Given the description of an element on the screen output the (x, y) to click on. 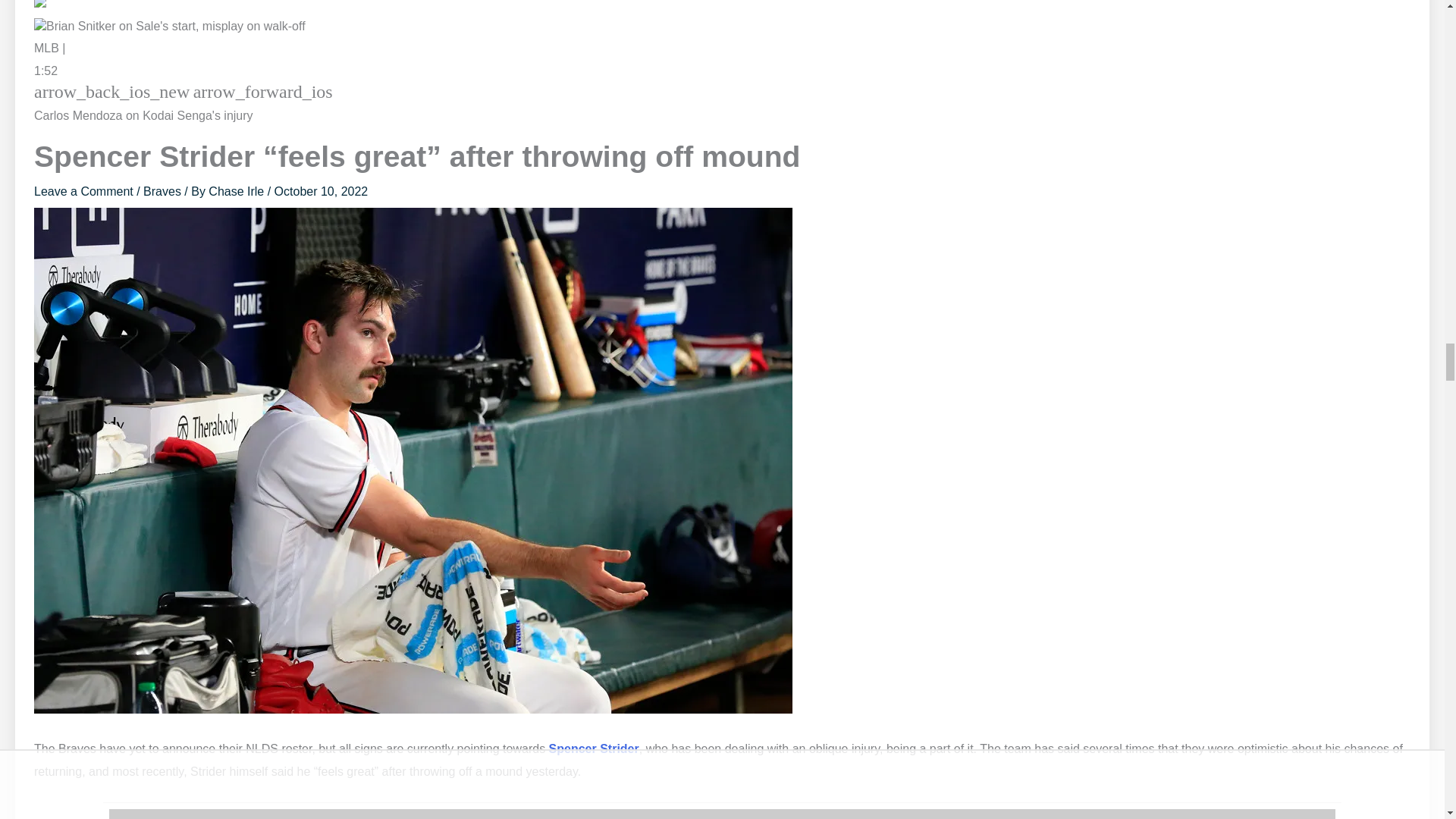
View all posts by Chase Irle (237, 191)
